Given the description of an element on the screen output the (x, y) to click on. 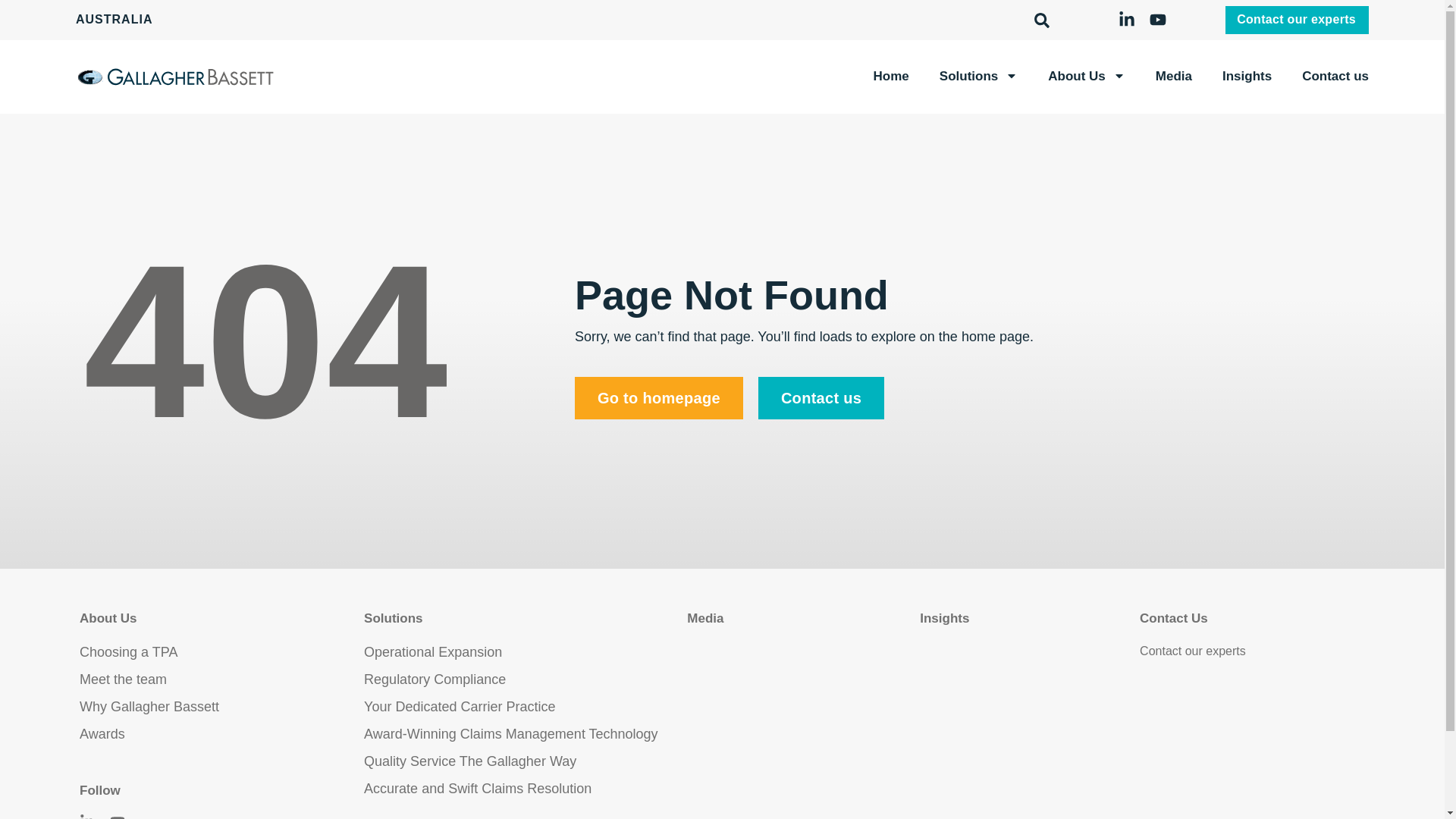
Media Element type: text (1173, 76)
Contact us Element type: text (821, 397)
Solutions Element type: text (978, 76)
Contact our experts Element type: text (1252, 651)
Awards Element type: text (217, 734)
Solutions Element type: text (393, 618)
Accurate and Swift Claims Resolution Element type: text (521, 788)
Quality Service The Gallagher Way Element type: text (521, 761)
Regulatory Compliance Element type: text (521, 679)
Insights Element type: text (1246, 76)
Your Dedicated Carrier Practice Element type: text (521, 706)
About Us Element type: text (1086, 76)
Why Gallagher Bassett Element type: text (217, 706)
Contact Us Element type: text (1173, 618)
Meet the team Element type: text (217, 679)
Insights Element type: text (944, 618)
Home Element type: text (891, 76)
Contact our experts Element type: text (1296, 20)
Media Element type: text (705, 618)
Operational Expansion Element type: text (521, 652)
About Us Element type: text (108, 618)
Award-Winning Claims Management Technology Element type: text (521, 734)
Contact us Element type: text (1335, 76)
Go to homepage Element type: text (658, 397)
Choosing a TPA Element type: text (217, 652)
